Given the description of an element on the screen output the (x, y) to click on. 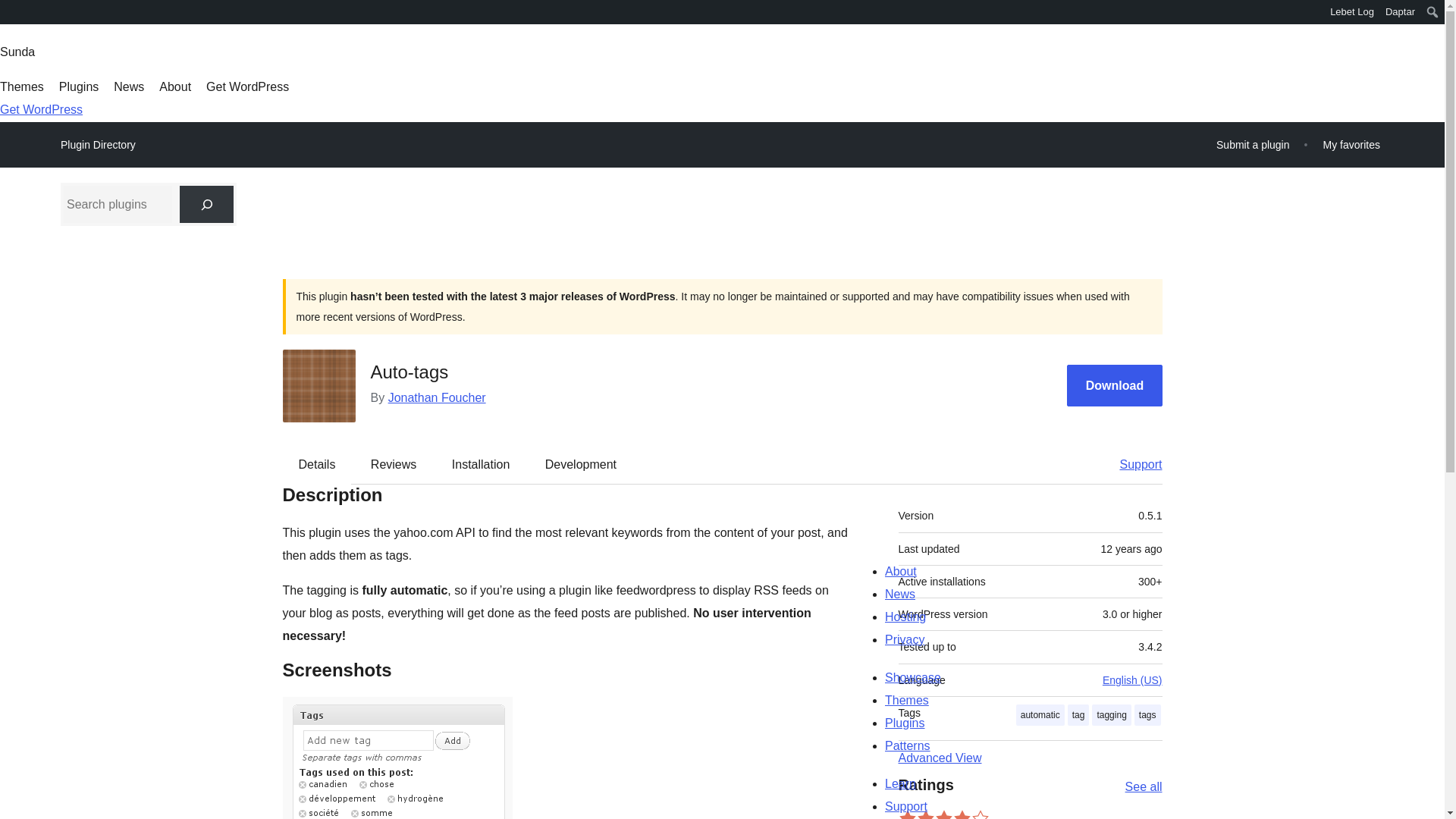
Reviews (392, 464)
Support (1132, 464)
Daptar (1400, 12)
Plugin Directory (97, 144)
Paluruh (18, 13)
Get WordPress (247, 87)
Details (316, 464)
Lebet Log (1352, 12)
News (128, 87)
WordPress.org (10, 16)
Themes (21, 87)
Get WordPress (41, 109)
About (174, 87)
Plugins (79, 87)
My favorites (1351, 144)
